Given the description of an element on the screen output the (x, y) to click on. 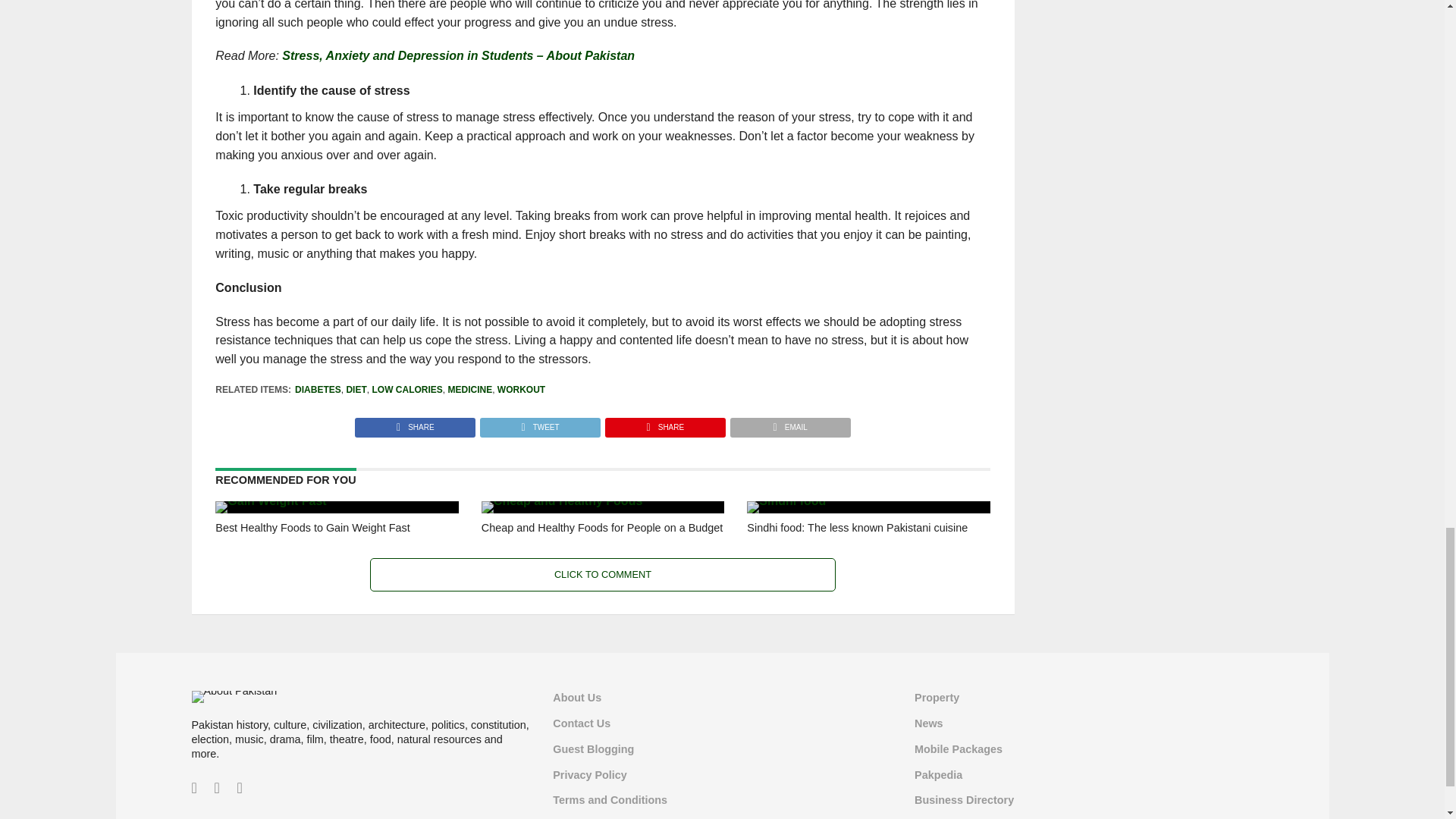
Tweet This Post (539, 422)
Pin This Post (664, 422)
Cheap and Healthy Foods for People on a Budget (561, 500)
Share on Facebook (415, 422)
